Given the description of an element on the screen output the (x, y) to click on. 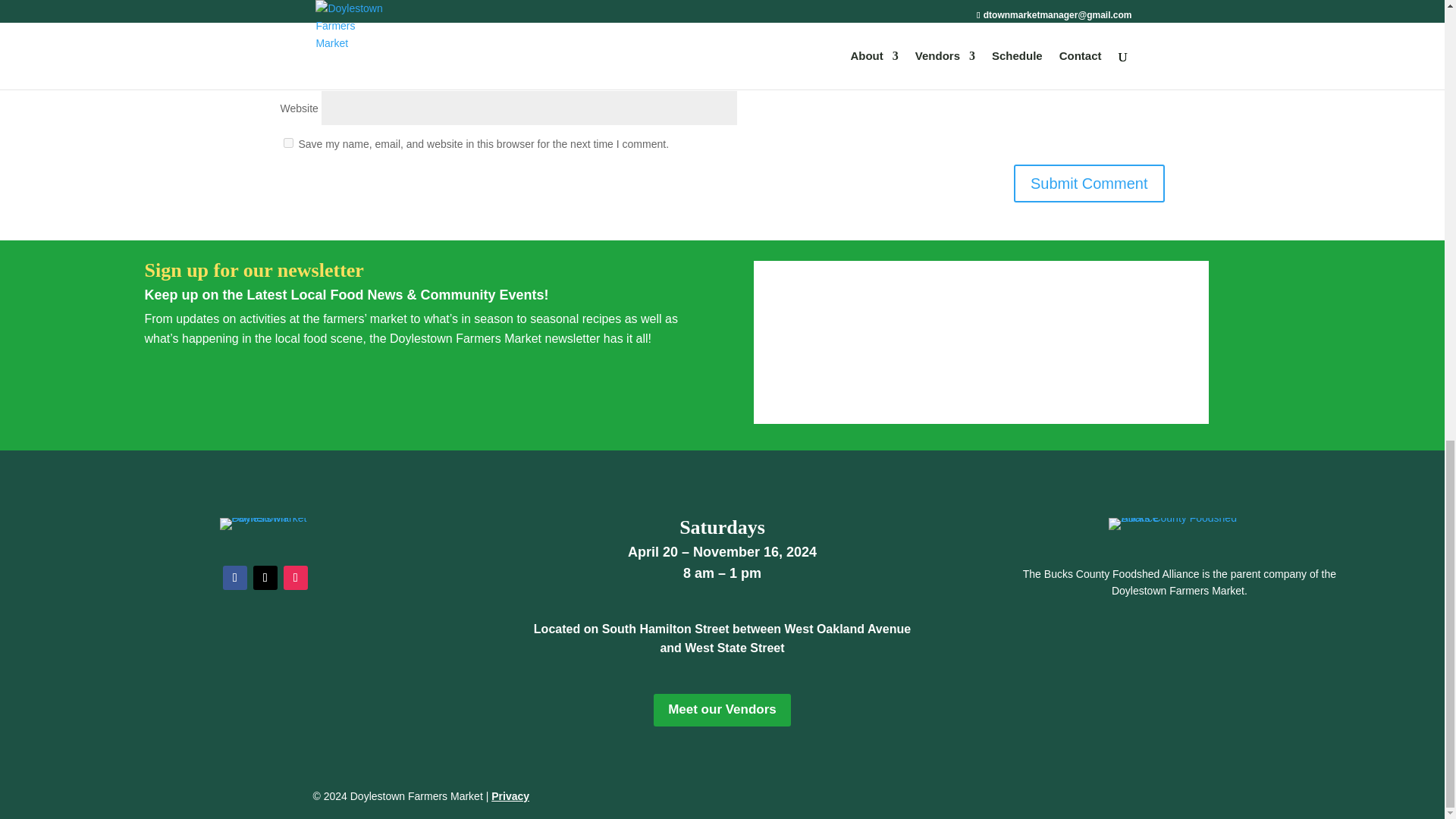
Submit Comment (1088, 183)
Follow on X (265, 577)
yes (288, 143)
Submit Comment (1088, 183)
Follow on Instagram (295, 577)
Follow on Facebook (234, 577)
BCFA-Logo-DFM (1178, 523)
Privacy (510, 796)
Meet our Vendors (721, 709)
